Given the description of an element on the screen output the (x, y) to click on. 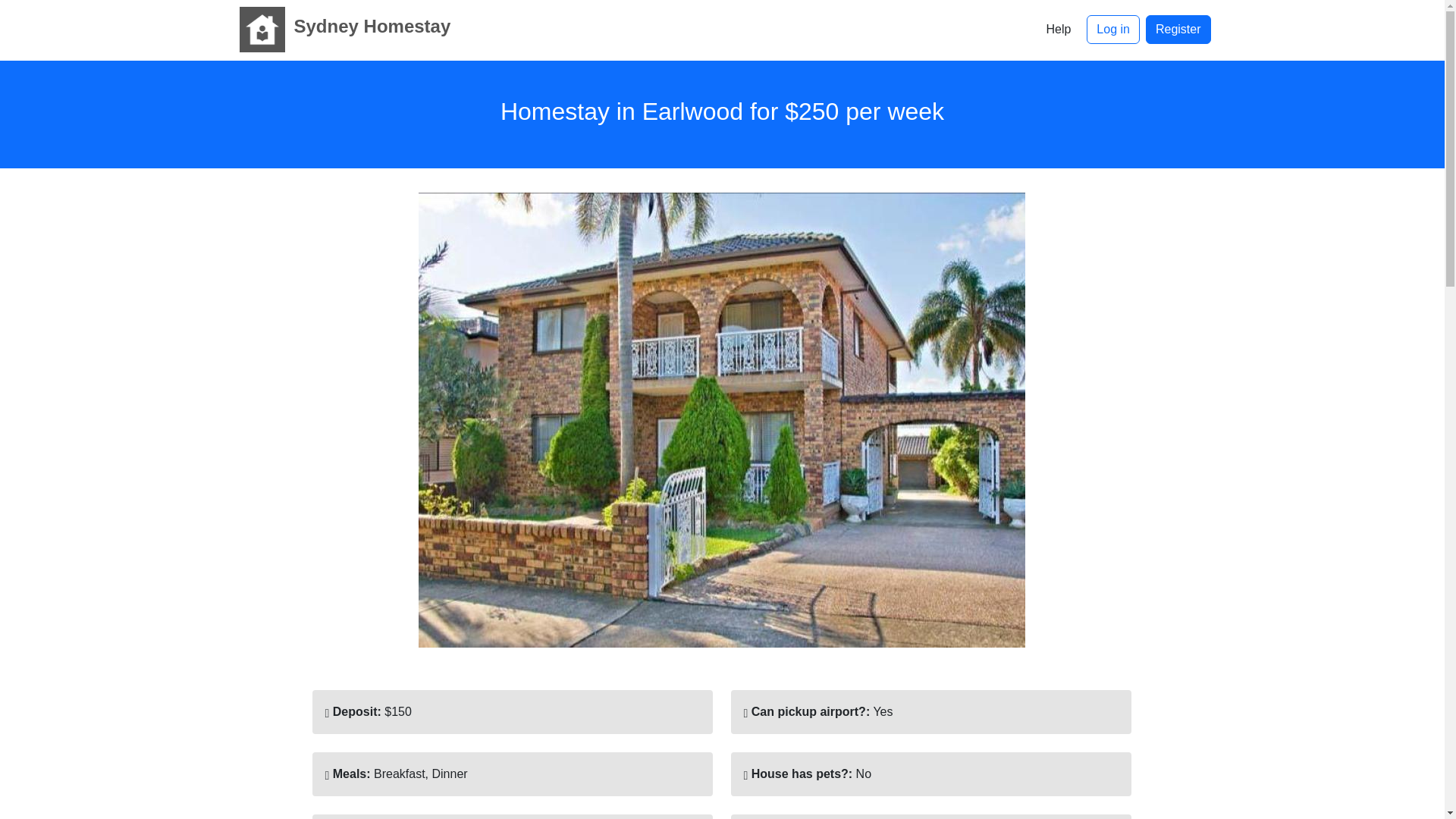
Help (1057, 29)
Sydney Homestay (340, 29)
Log in (1113, 29)
Register (1178, 29)
